Given the description of an element on the screen output the (x, y) to click on. 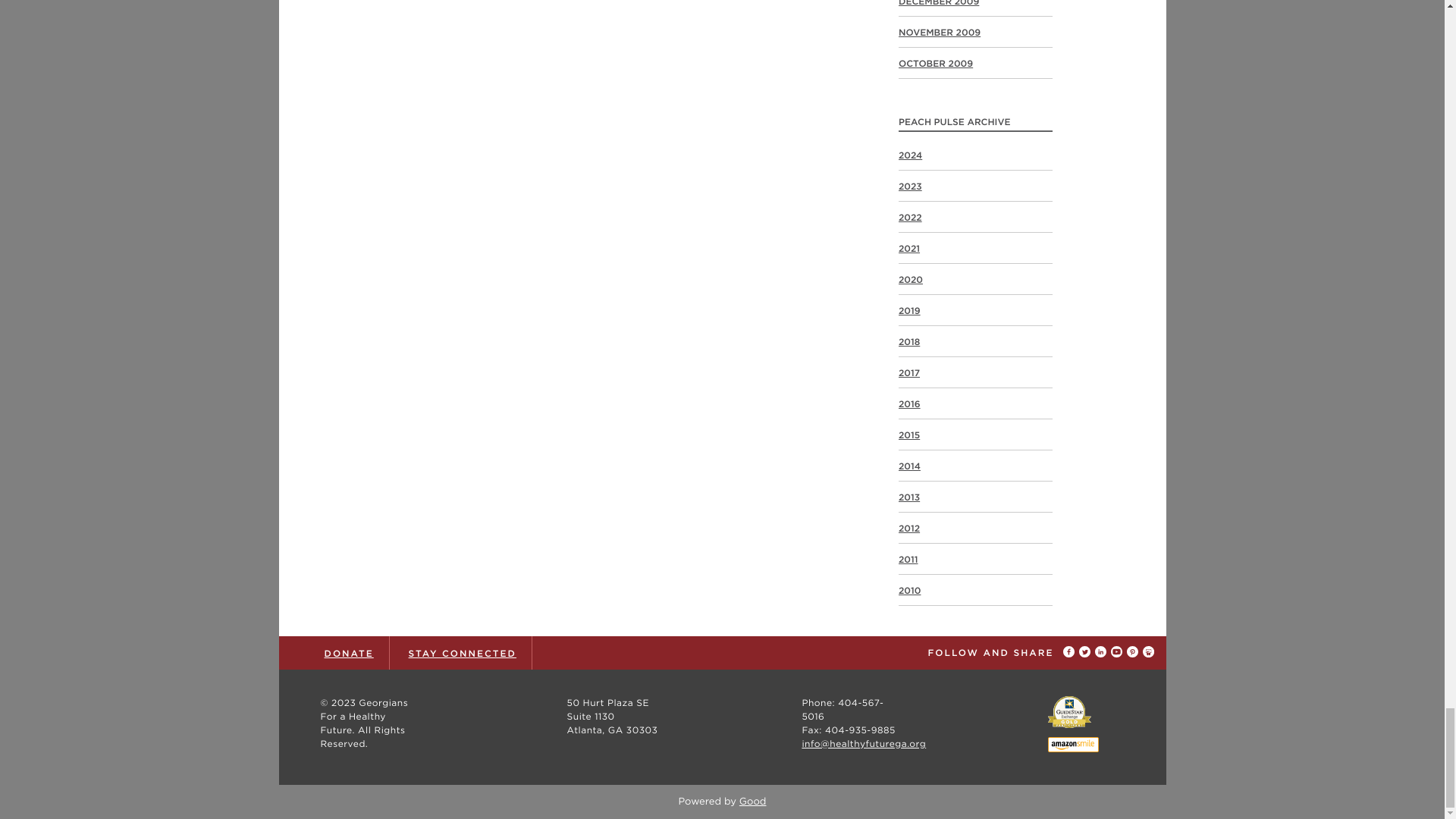
Share on youtube (1117, 652)
Good Agency - WordPress Agency for Nonprofits (753, 801)
Share on linkedin (1102, 652)
Share on facebook (1070, 652)
Share on pinterest (1134, 652)
Share on twitter (1086, 652)
